Given the description of an element on the screen output the (x, y) to click on. 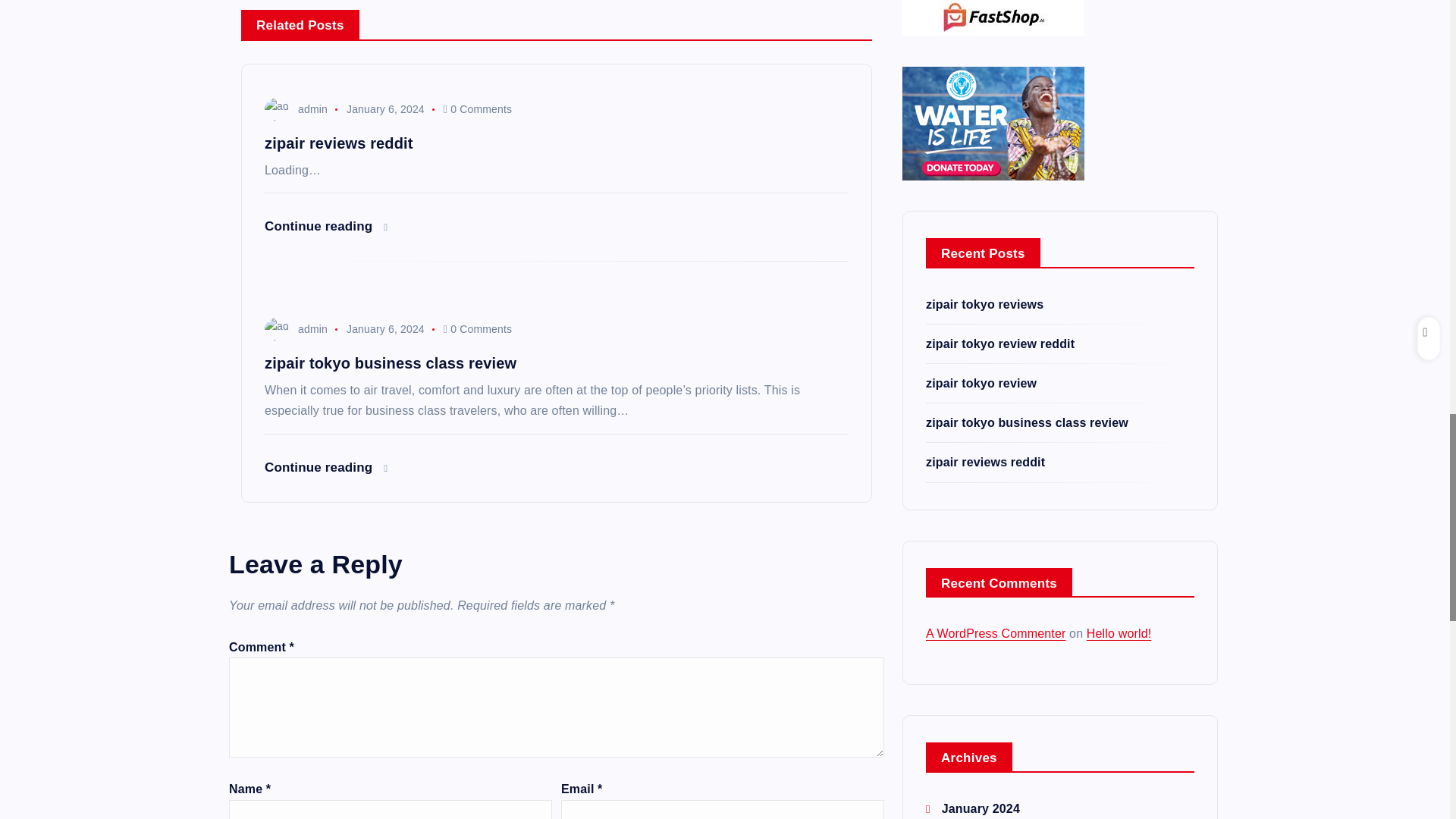
Continue reading (325, 467)
Continue reading (325, 226)
admin (295, 109)
admin (295, 328)
